Given the description of an element on the screen output the (x, y) to click on. 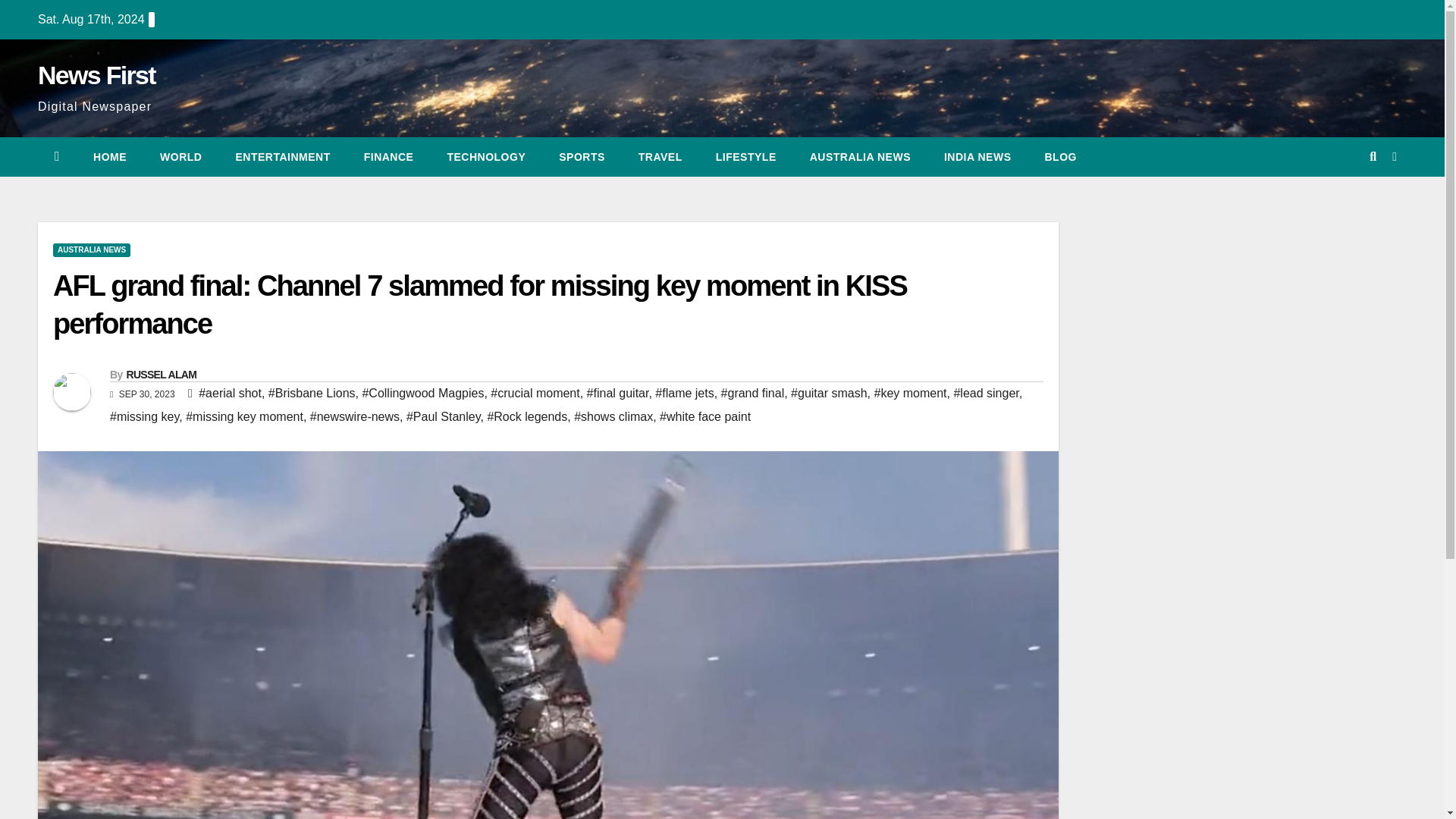
Australia News (860, 156)
AUSTRALIA NEWS (860, 156)
Sports (581, 156)
RUSSEL ALAM (160, 374)
Blog (1060, 156)
News First (96, 74)
BLOG (1060, 156)
HOME (109, 156)
TECHNOLOGY (485, 156)
India News (977, 156)
